Given the description of an element on the screen output the (x, y) to click on. 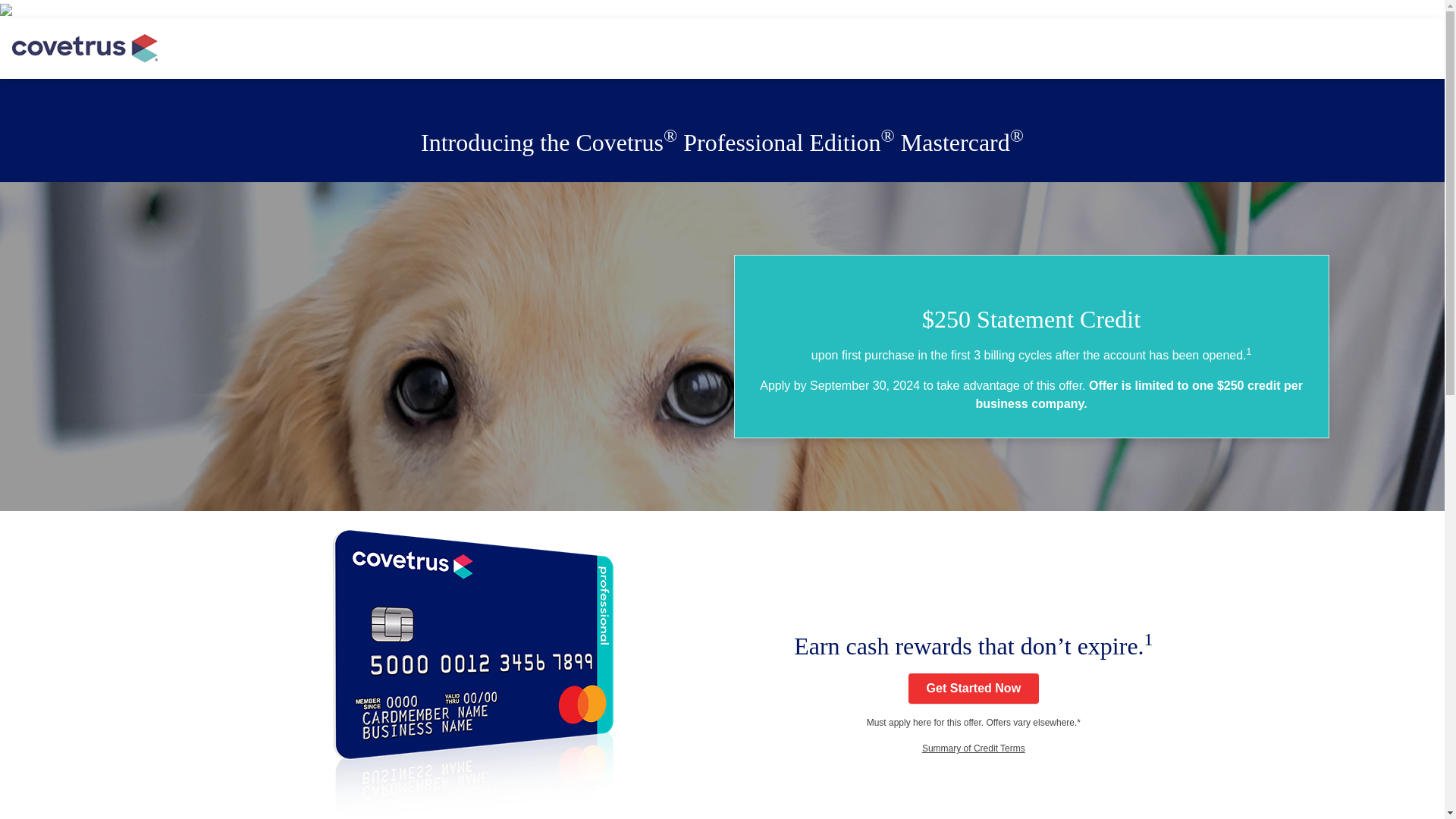
Summary of Credit Terms (973, 747)
Get Started Now (973, 688)
Summary of Credit Terms (973, 747)
Get Started Now (973, 688)
